Given the description of an element on the screen output the (x, y) to click on. 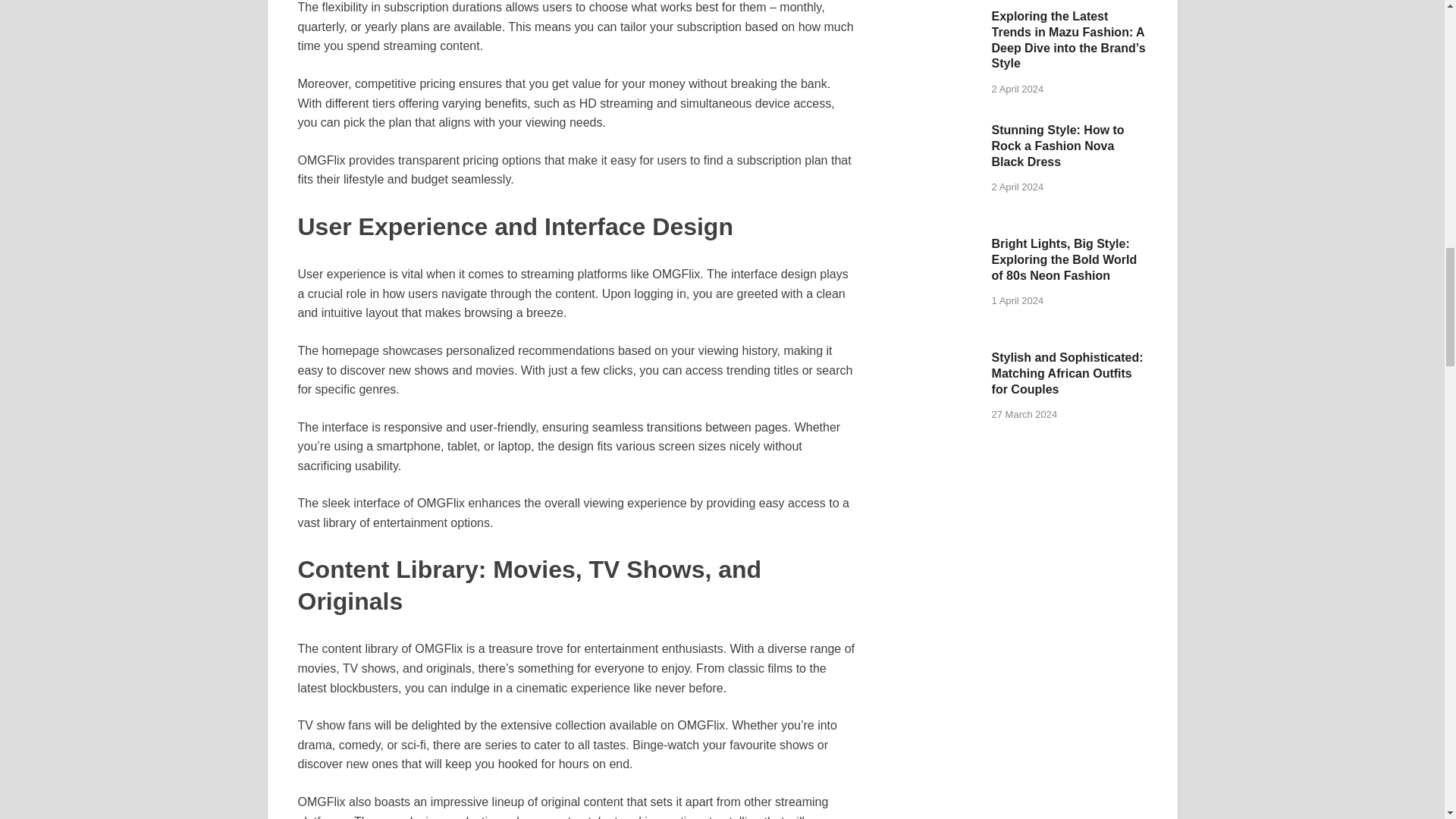
Stunning Style: How to Rock a Fashion Nova Black Dress (932, 131)
